Given the description of an element on the screen output the (x, y) to click on. 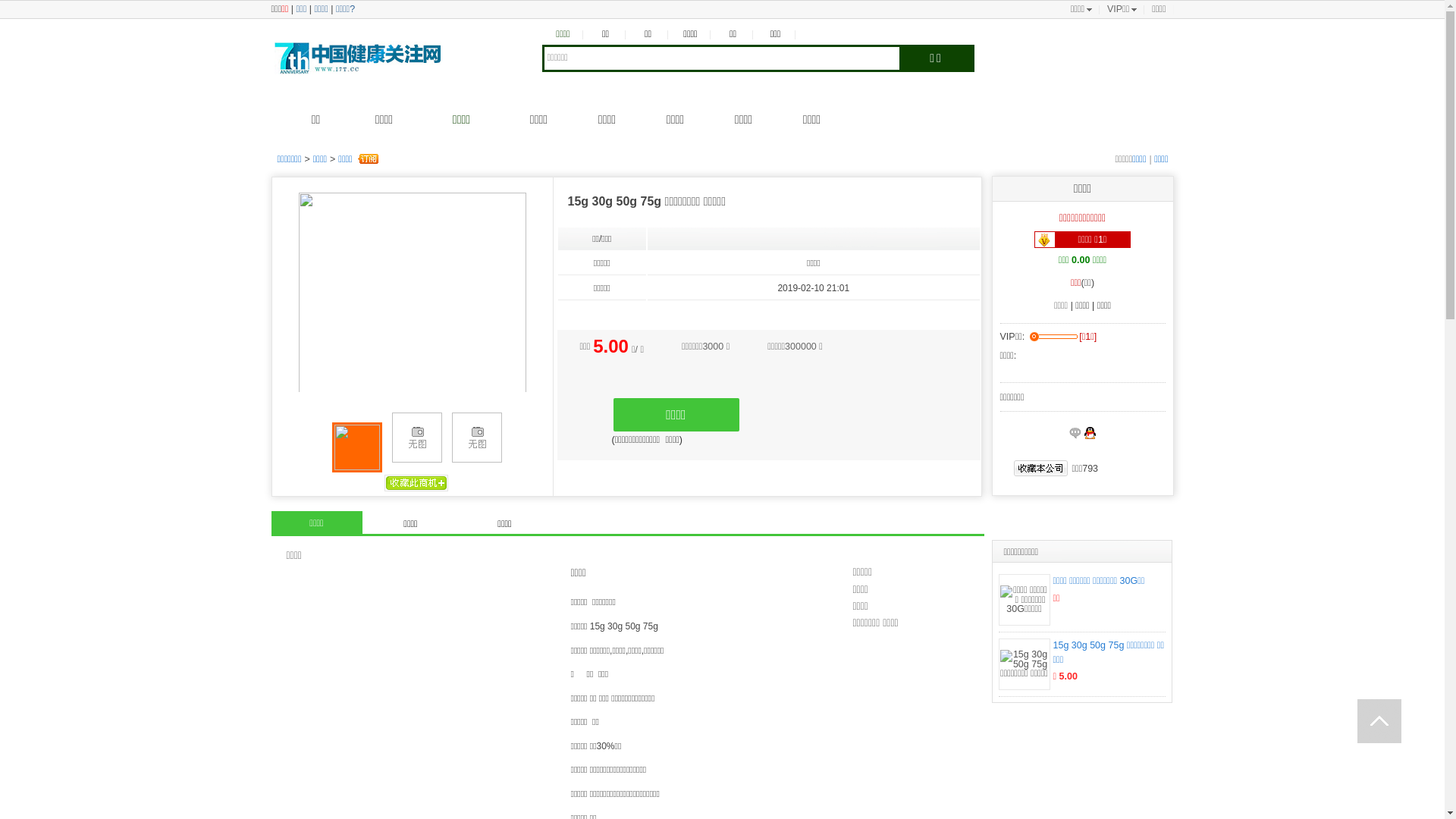
  Element type: text (1379, 721)
